Given the description of an element on the screen output the (x, y) to click on. 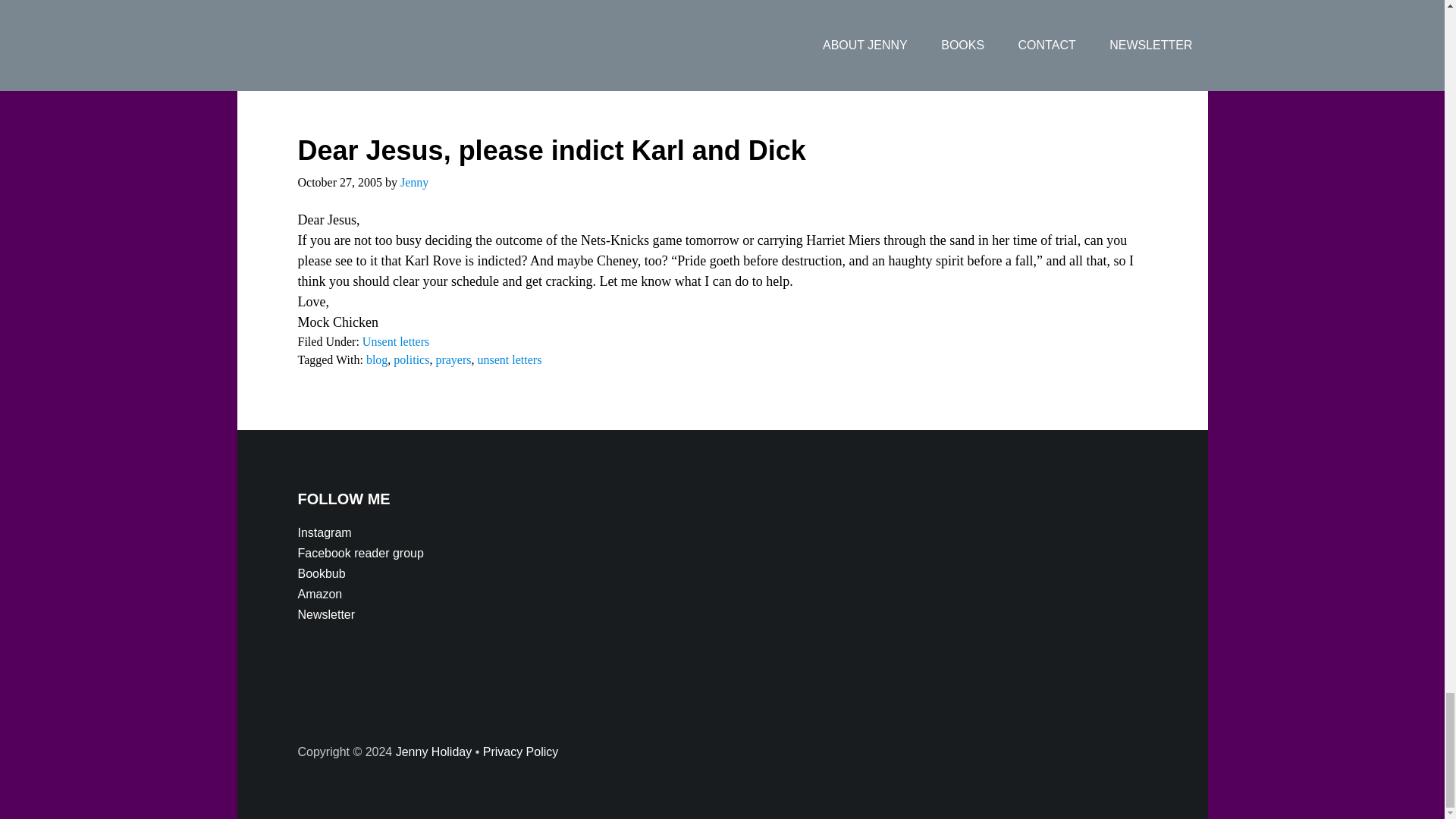
Privacy Policy (521, 751)
Jenny Holiday (433, 751)
